Given the description of an element on the screen output the (x, y) to click on. 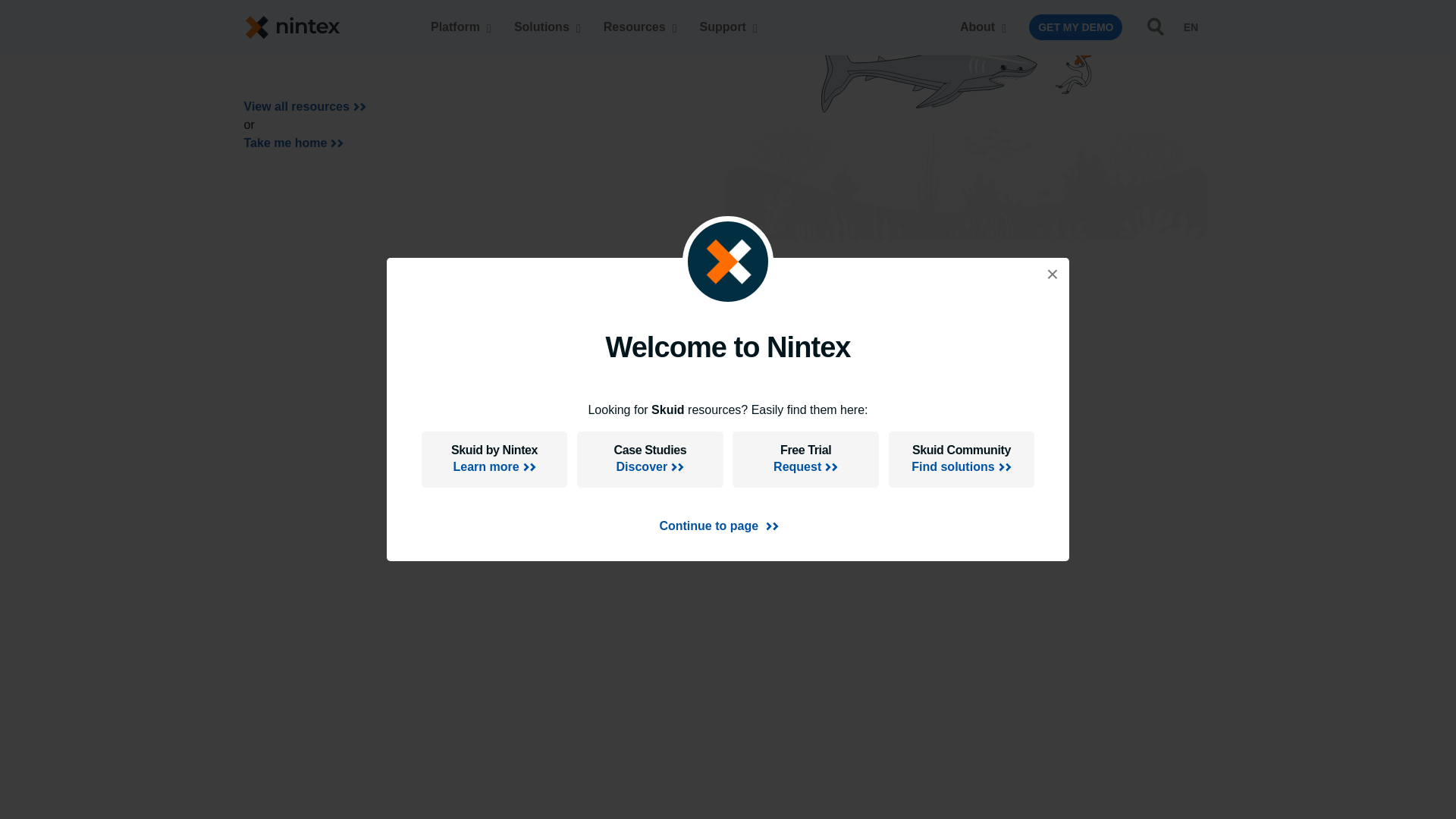
Request (805, 104)
Find solutions (961, 104)
Discover (649, 104)
Continue to page (718, 162)
Learn more (494, 104)
